Given the description of an element on the screen output the (x, y) to click on. 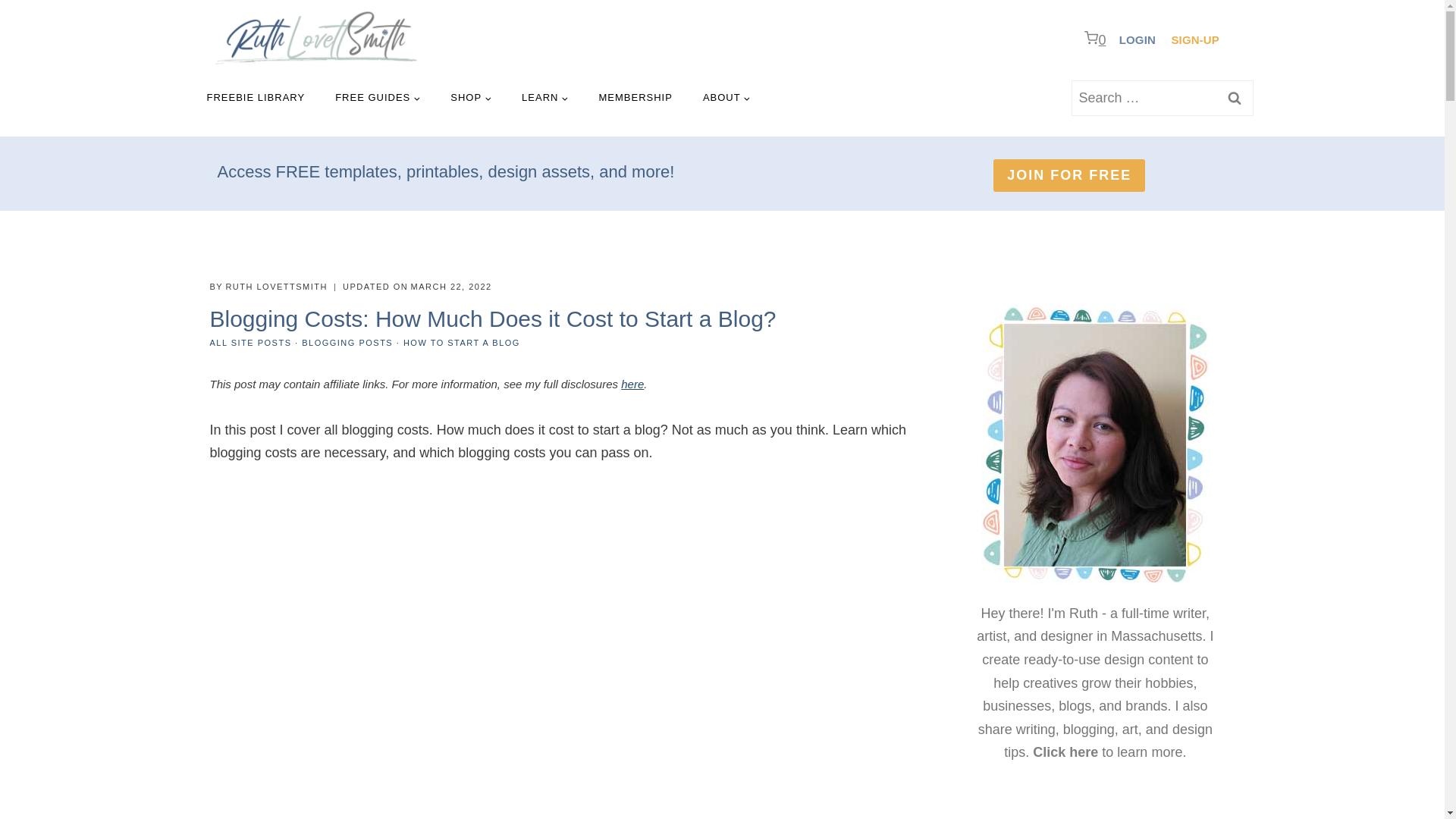
FREE GUIDES (377, 97)
Search (1233, 98)
FREEBIE LIBRARY (255, 97)
ABOUT (726, 97)
MEMBERSHIP (635, 97)
SHOP (470, 97)
Search (1233, 98)
LEARN (544, 97)
0 (1098, 39)
SIGN-UP (1195, 39)
